Given the description of an element on the screen output the (x, y) to click on. 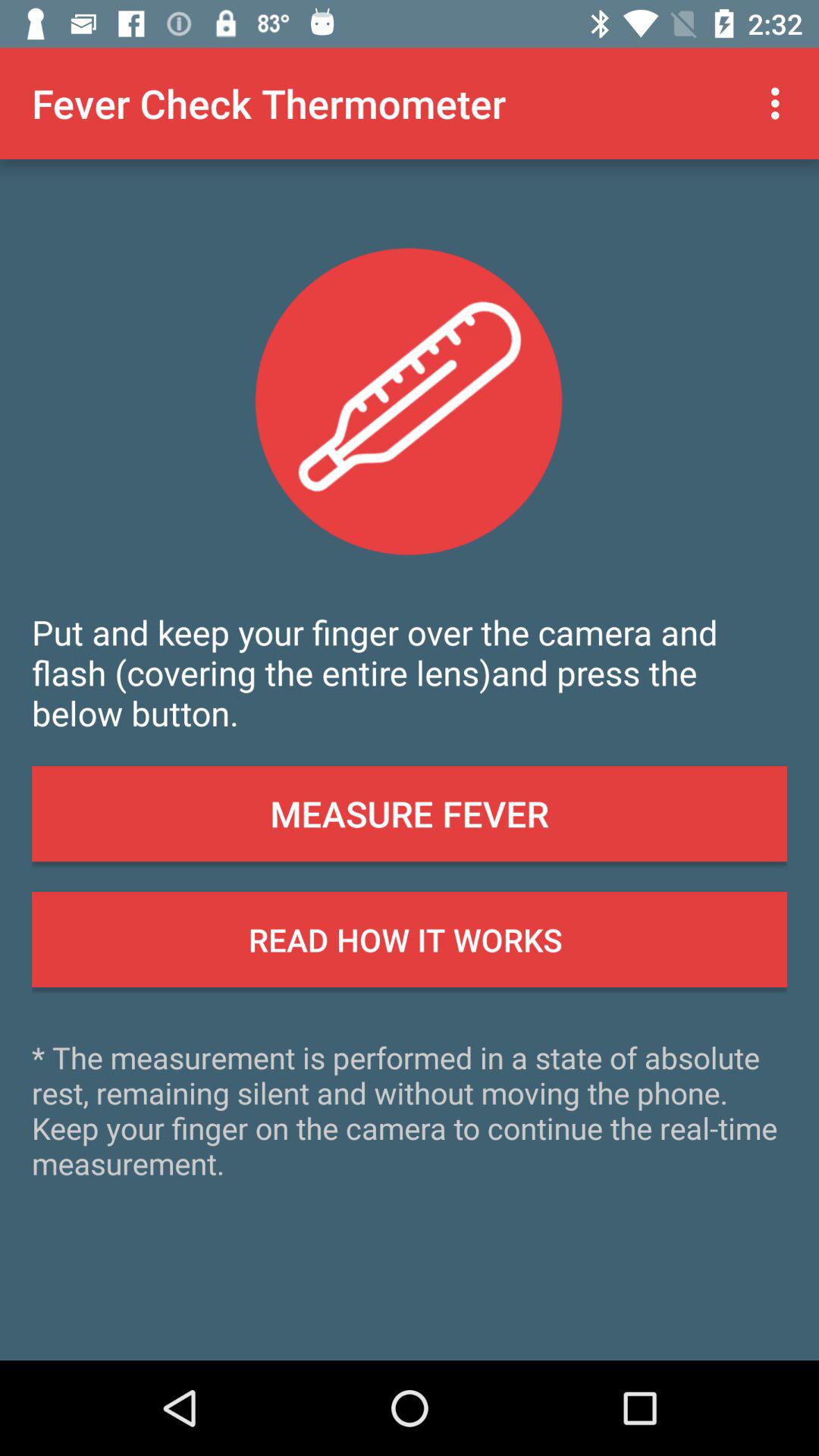
turn off button below the measure fever icon (409, 939)
